Given the description of an element on the screen output the (x, y) to click on. 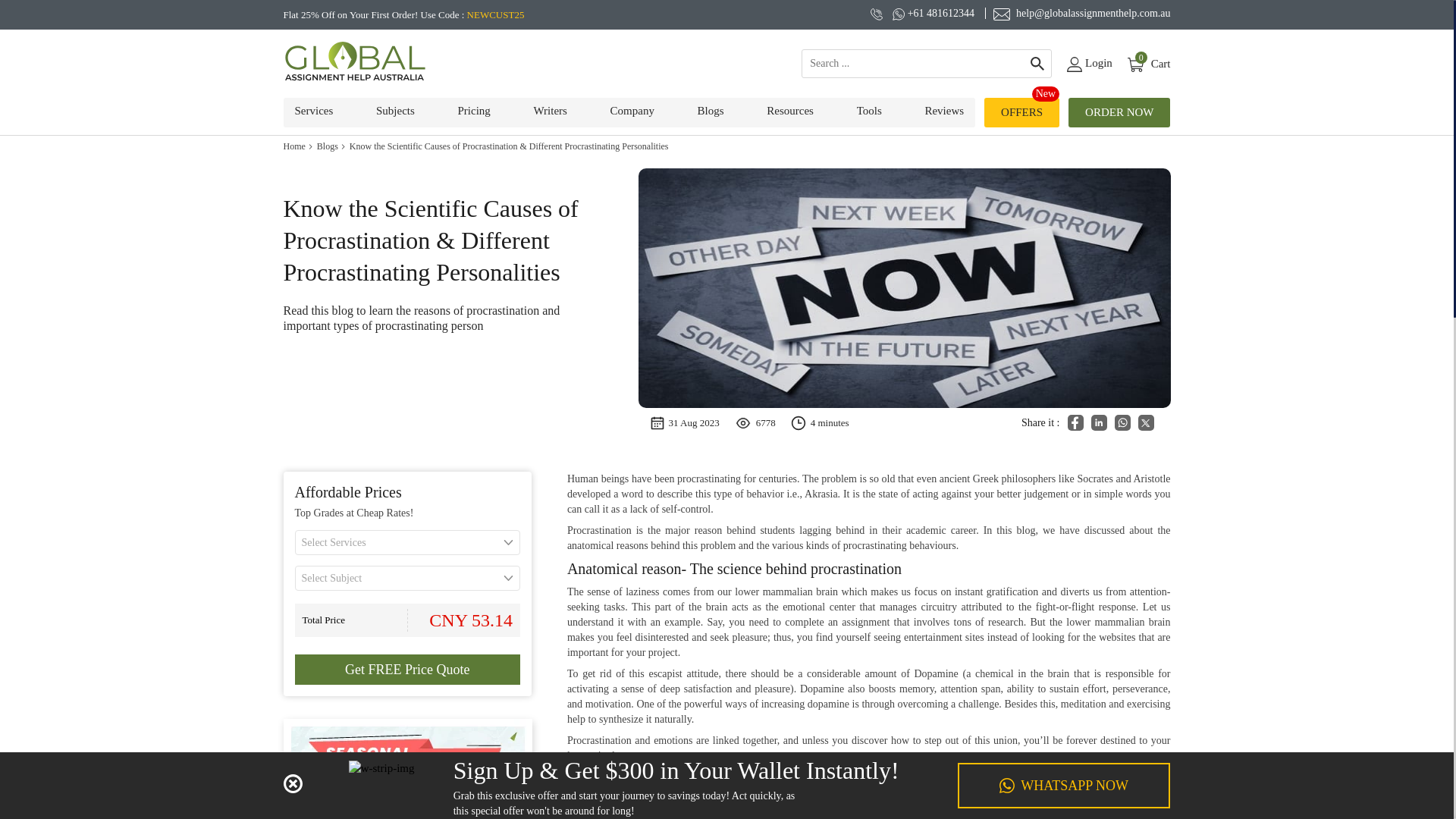
Login (1089, 63)
